Given the description of an element on the screen output the (x, y) to click on. 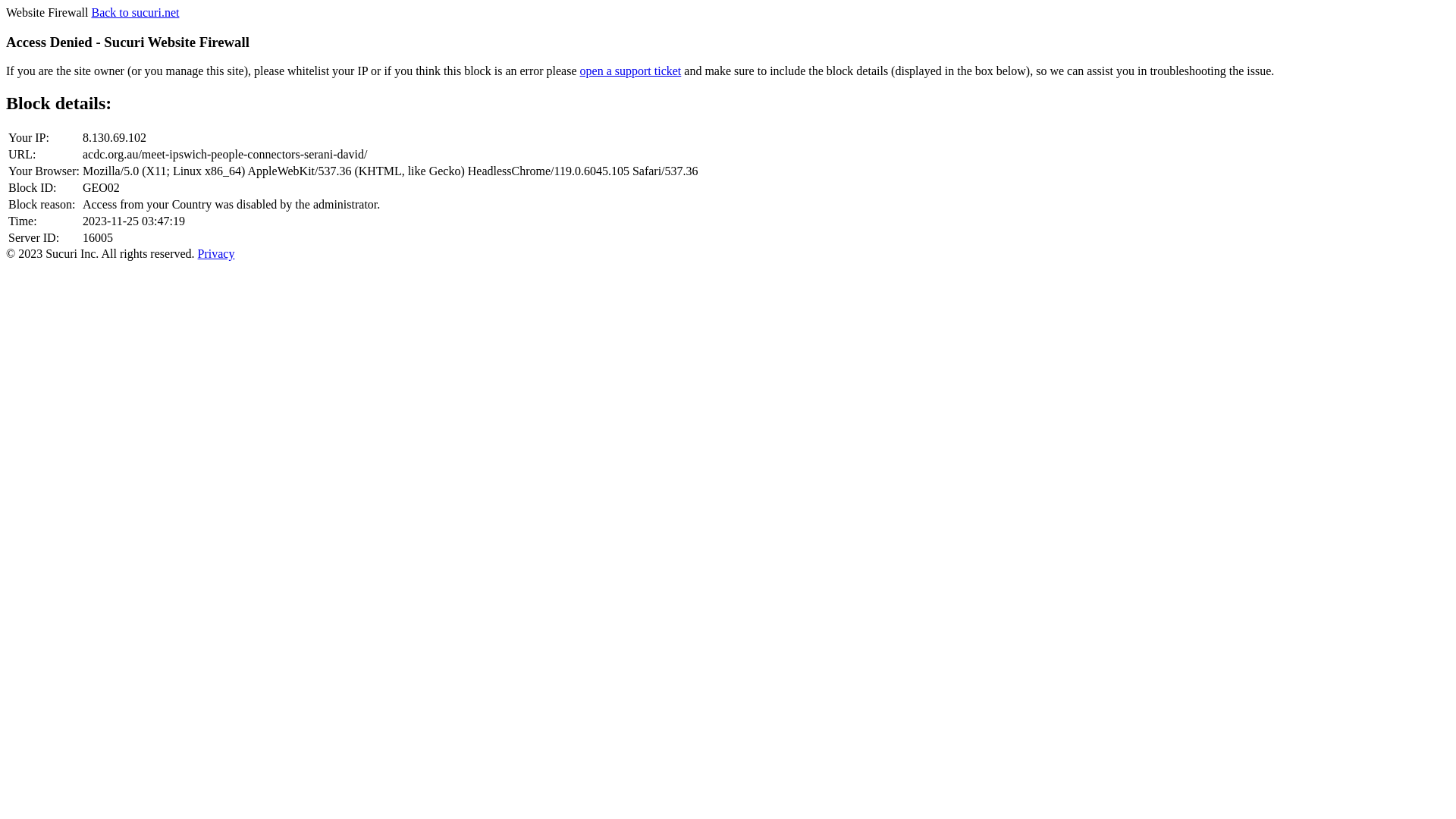
Privacy Element type: text (216, 253)
Back to sucuri.net Element type: text (134, 12)
open a support ticket Element type: text (630, 70)
